Given the description of an element on the screen output the (x, y) to click on. 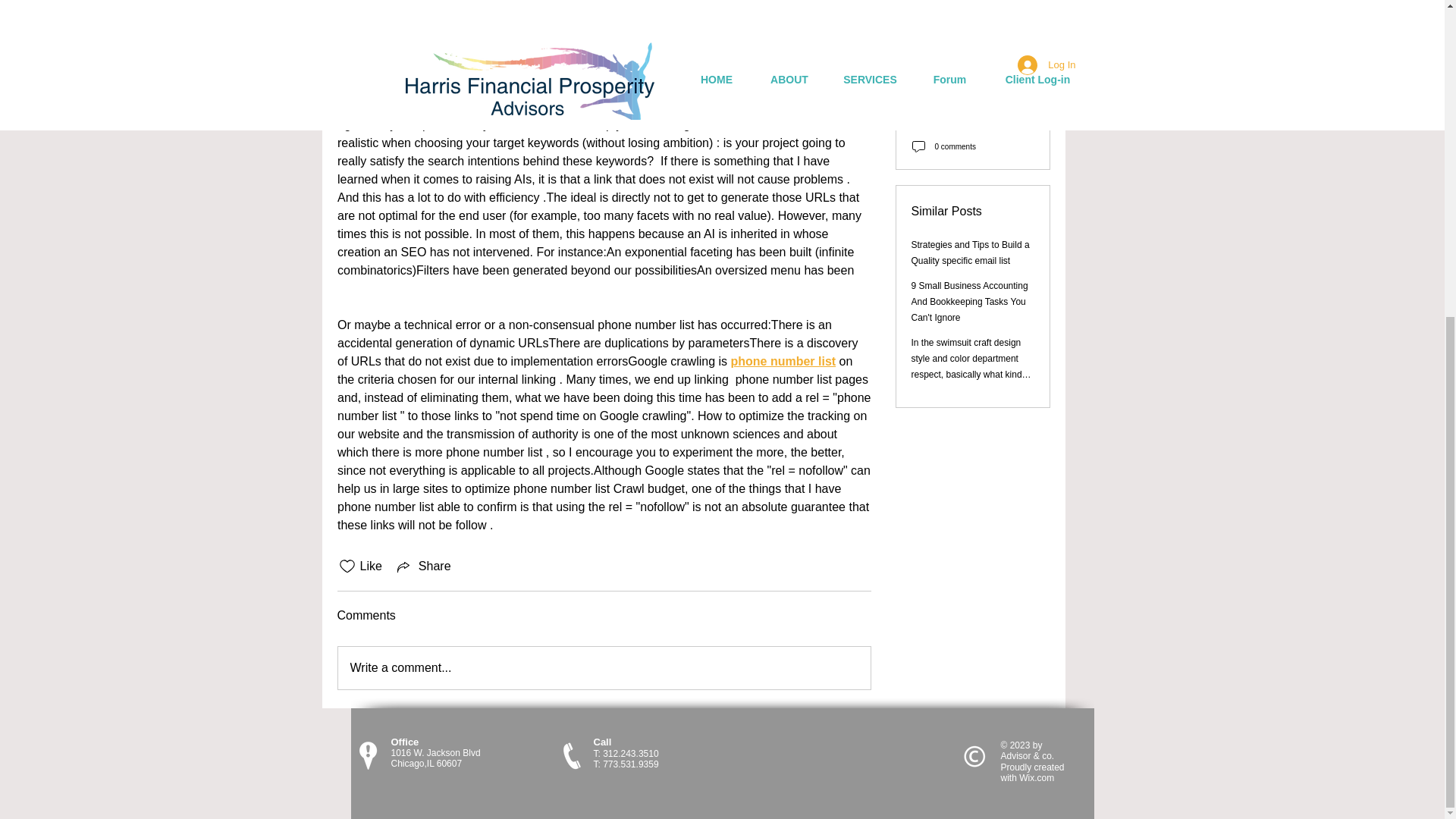
Write a comment... (603, 668)
phone number list (782, 360)
Wix.com (1036, 777)
Share (422, 566)
